Given the description of an element on the screen output the (x, y) to click on. 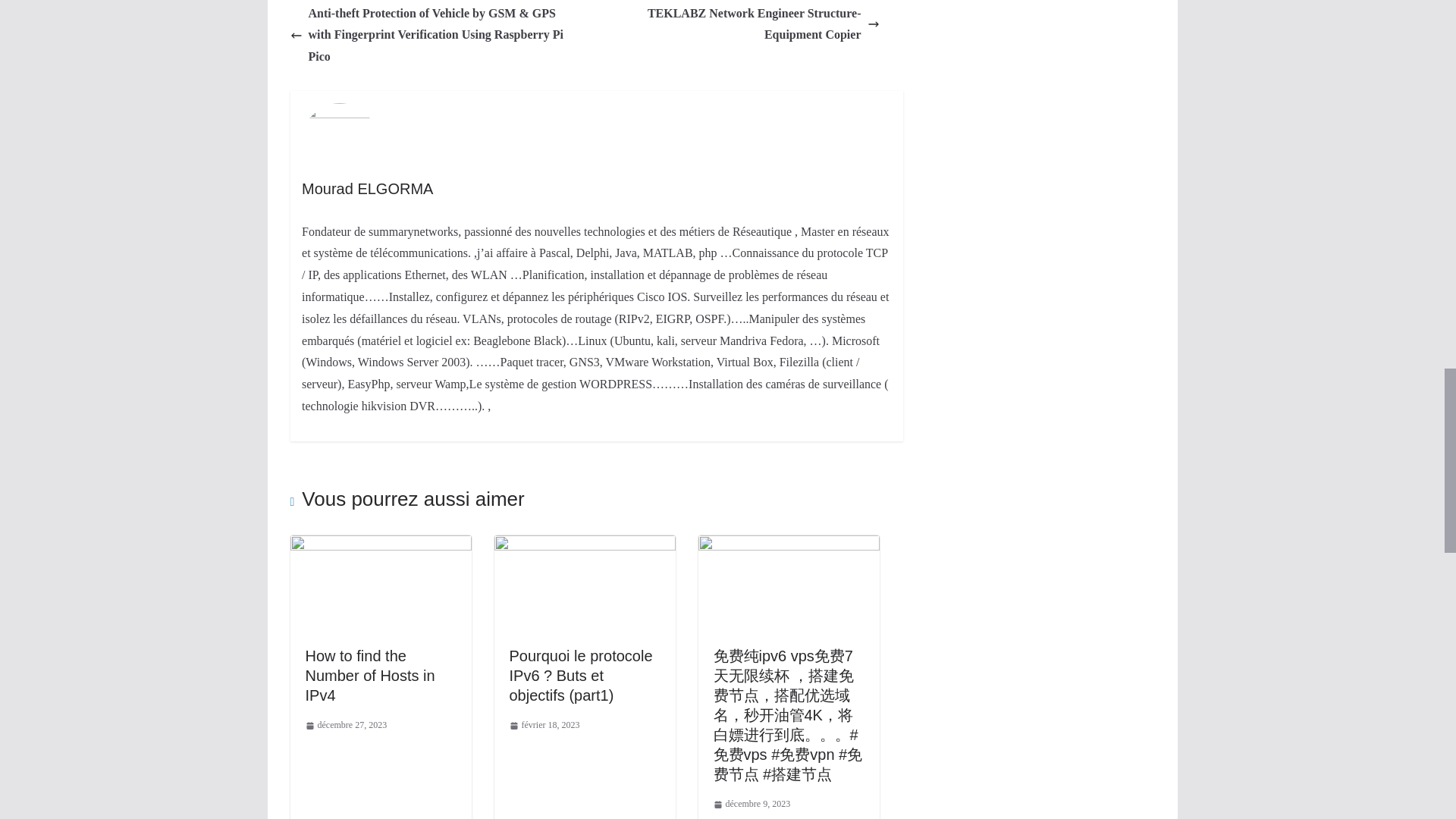
5:19 pm (345, 725)
How to find the Number of Hosts in IPv4 (368, 675)
How to find the Number of Hosts in IPv4 (379, 545)
